Given the description of an element on the screen output the (x, y) to click on. 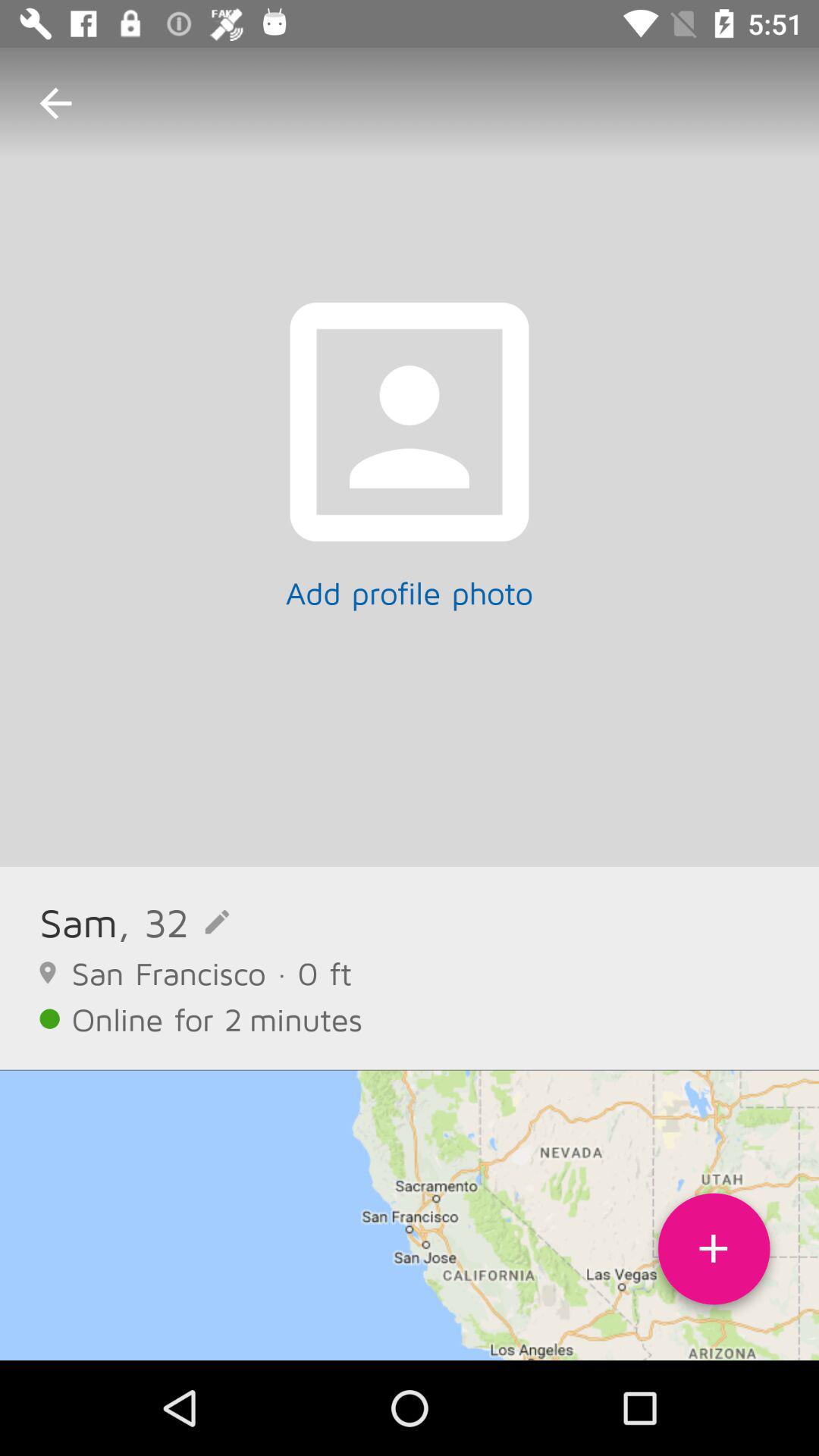
launch item at the top left corner (55, 103)
